Given the description of an element on the screen output the (x, y) to click on. 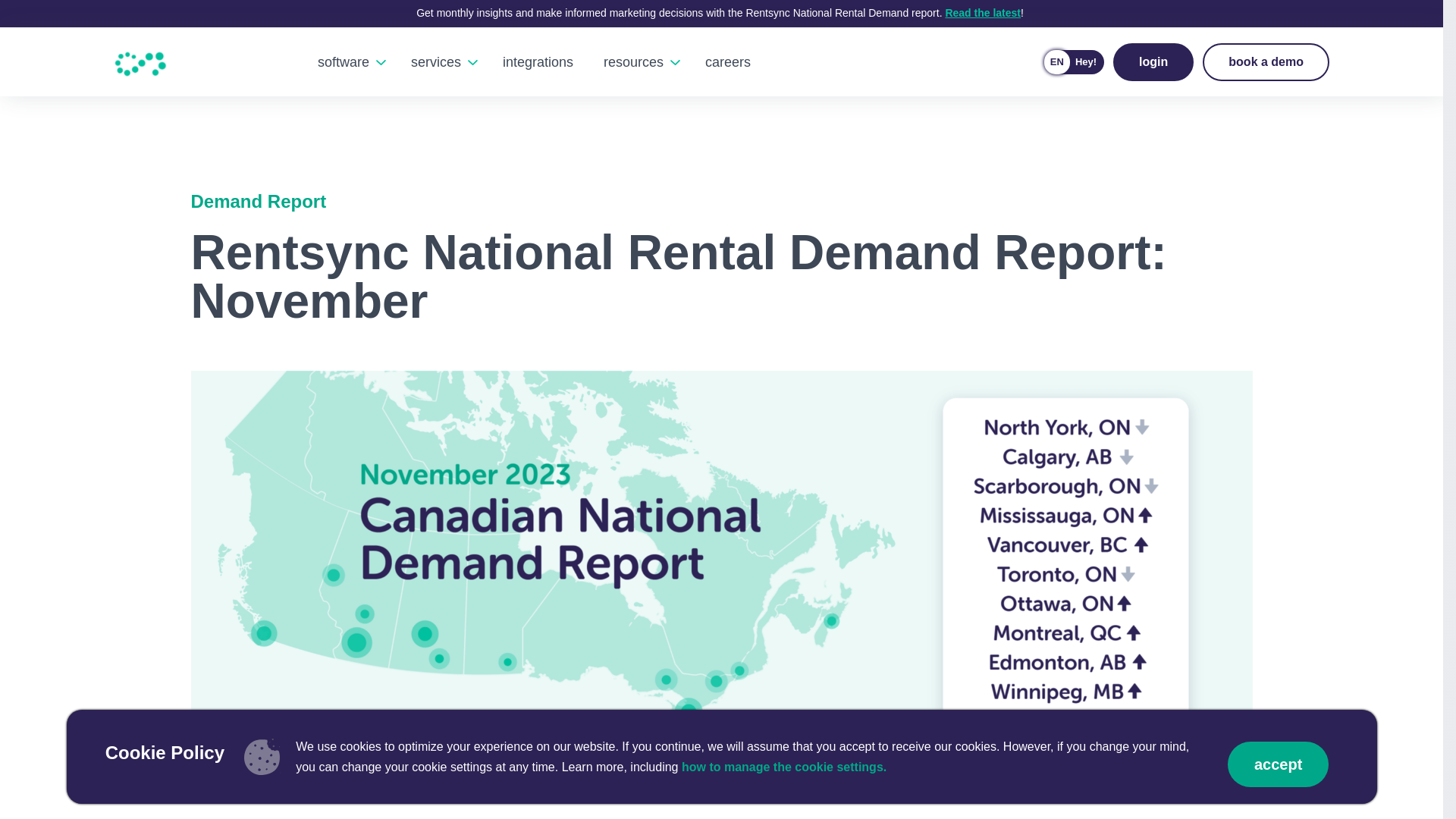
resources (633, 61)
software (343, 13)
Rentsync National Rental Demand Report: November (721, 276)
Read the latest (982, 12)
Demand Report (721, 204)
Rentsync Alternative Logo (140, 62)
careers (727, 61)
login (1153, 62)
services (1074, 61)
book a demo (436, 45)
integrations (1265, 62)
